Given the description of an element on the screen output the (x, y) to click on. 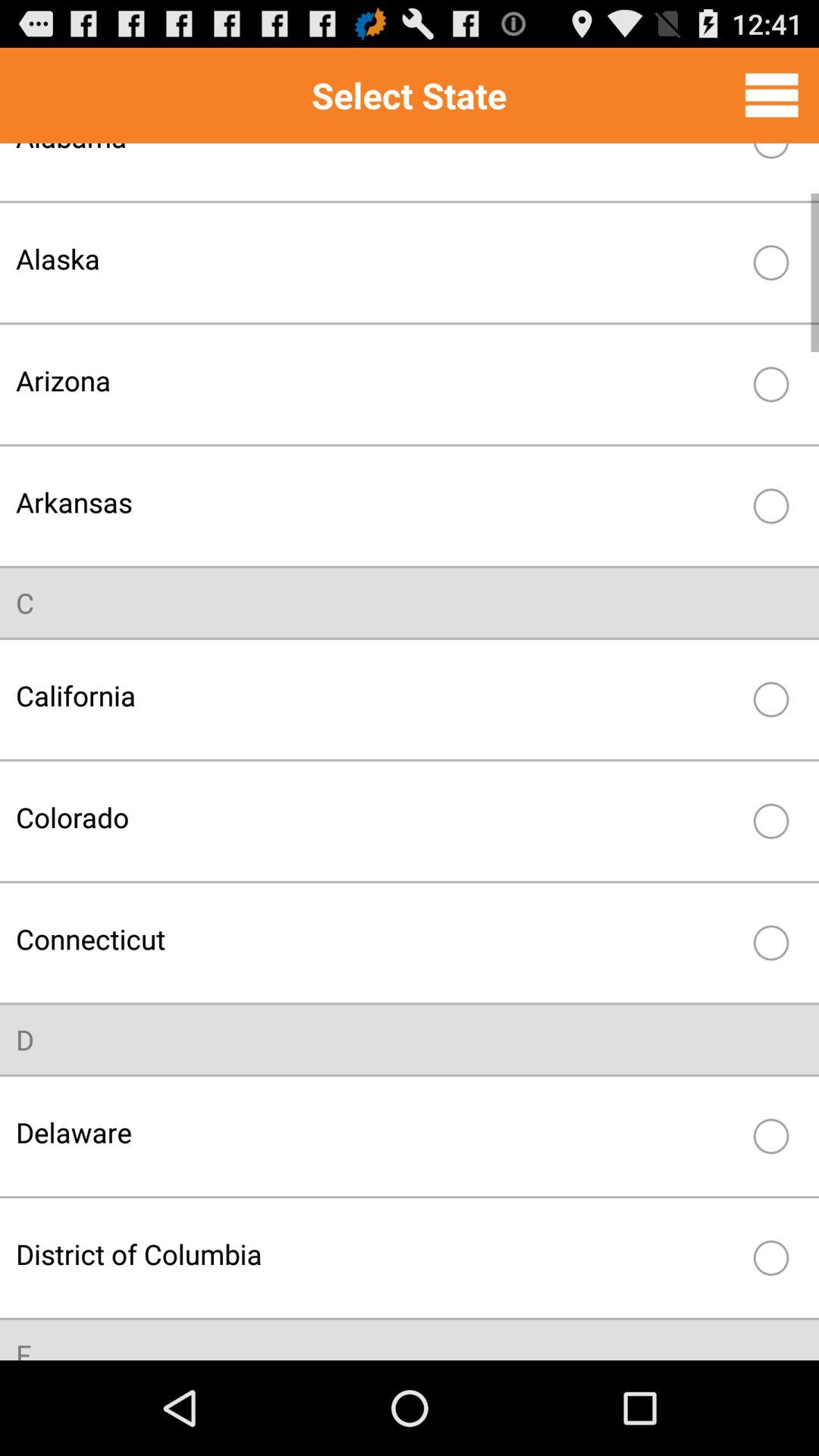
swipe to delaware icon (377, 1132)
